Given the description of an element on the screen output the (x, y) to click on. 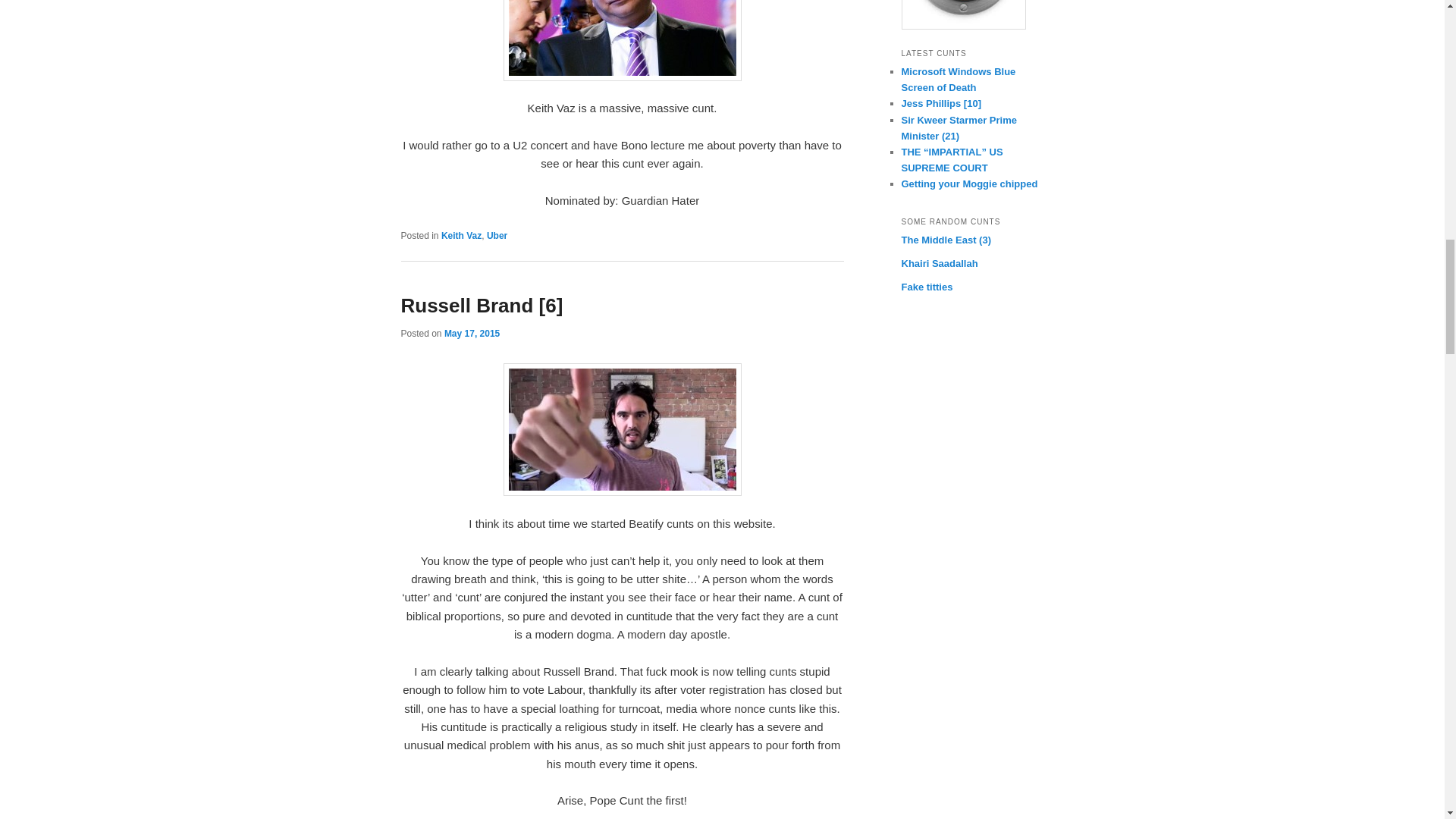
Uber (496, 235)
May 17, 2015 (471, 333)
Keith Vaz (461, 235)
